Given the description of an element on the screen output the (x, y) to click on. 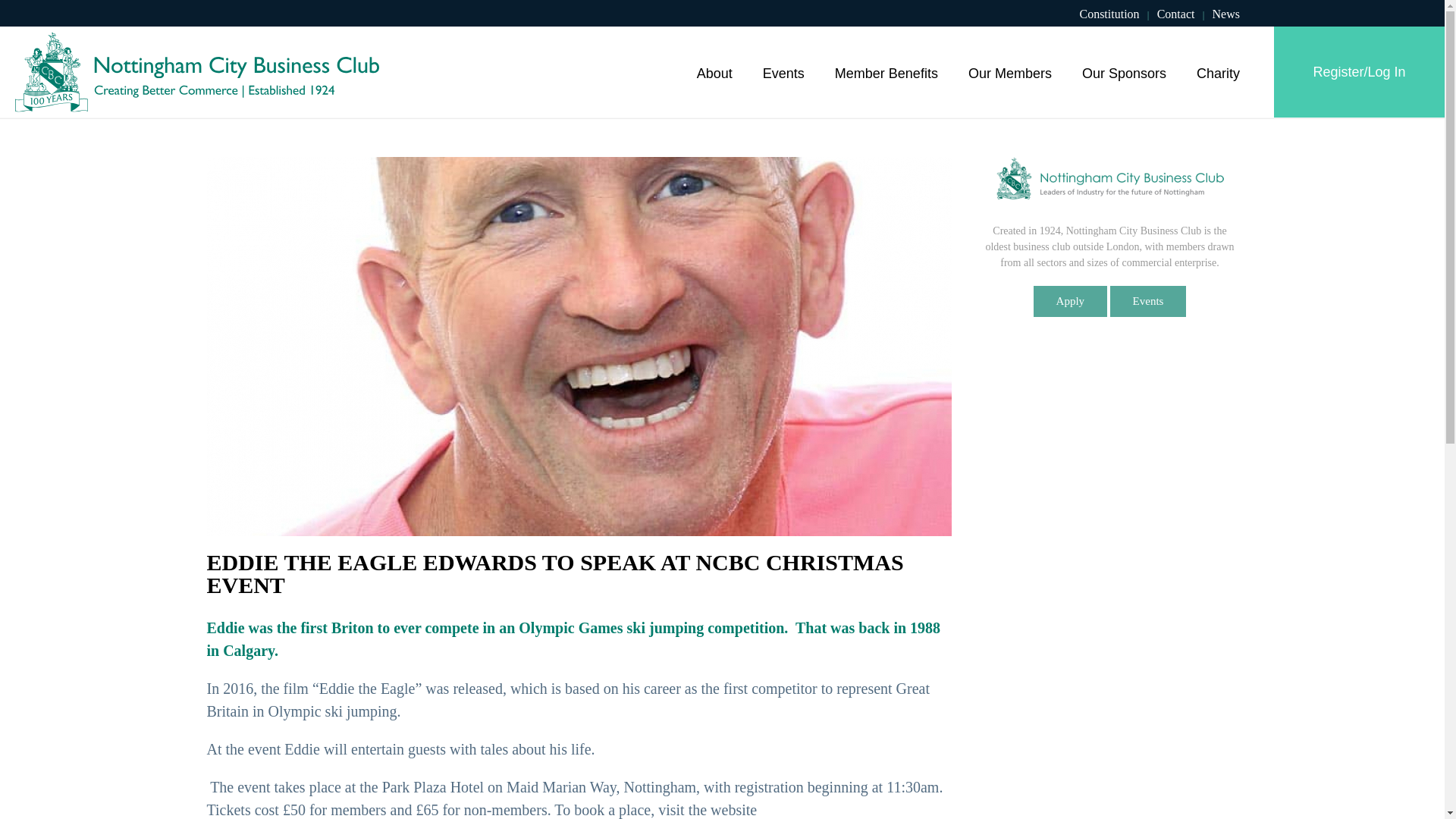
Our Sponsors (1123, 71)
Our Members (1010, 71)
Our Members (1010, 71)
Nottingham City Business Club (196, 72)
Constitution (1108, 13)
Member Benefits (886, 71)
Contact (1176, 13)
Our Sponsors (1123, 71)
News (1226, 13)
Member Benefits (886, 71)
